Given the description of an element on the screen output the (x, y) to click on. 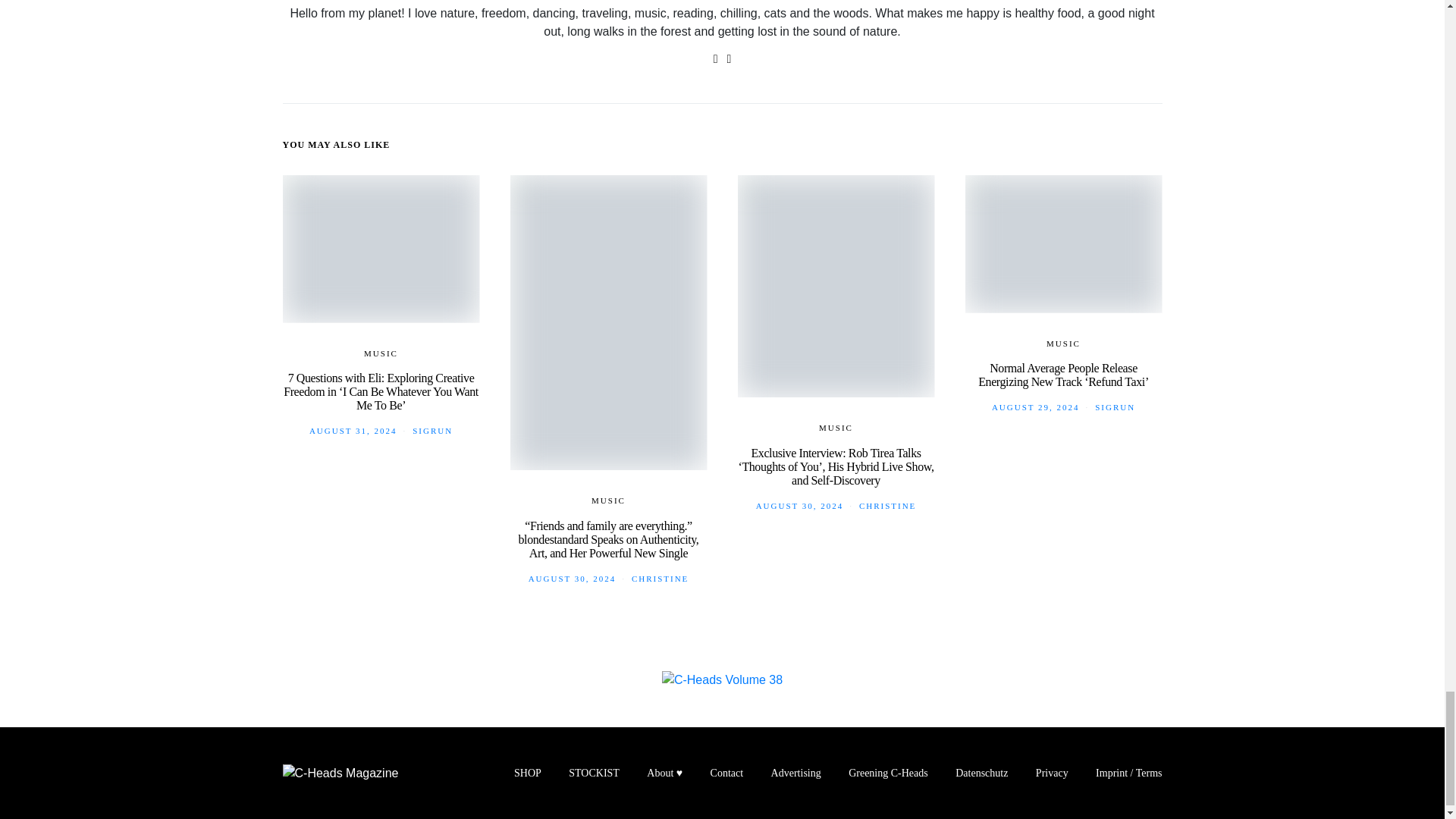
View all posts by Sigrun (1114, 406)
View all posts by Sigrun (432, 429)
View all posts by Christine (887, 505)
View all posts by Christine (659, 578)
